Given the description of an element on the screen output the (x, y) to click on. 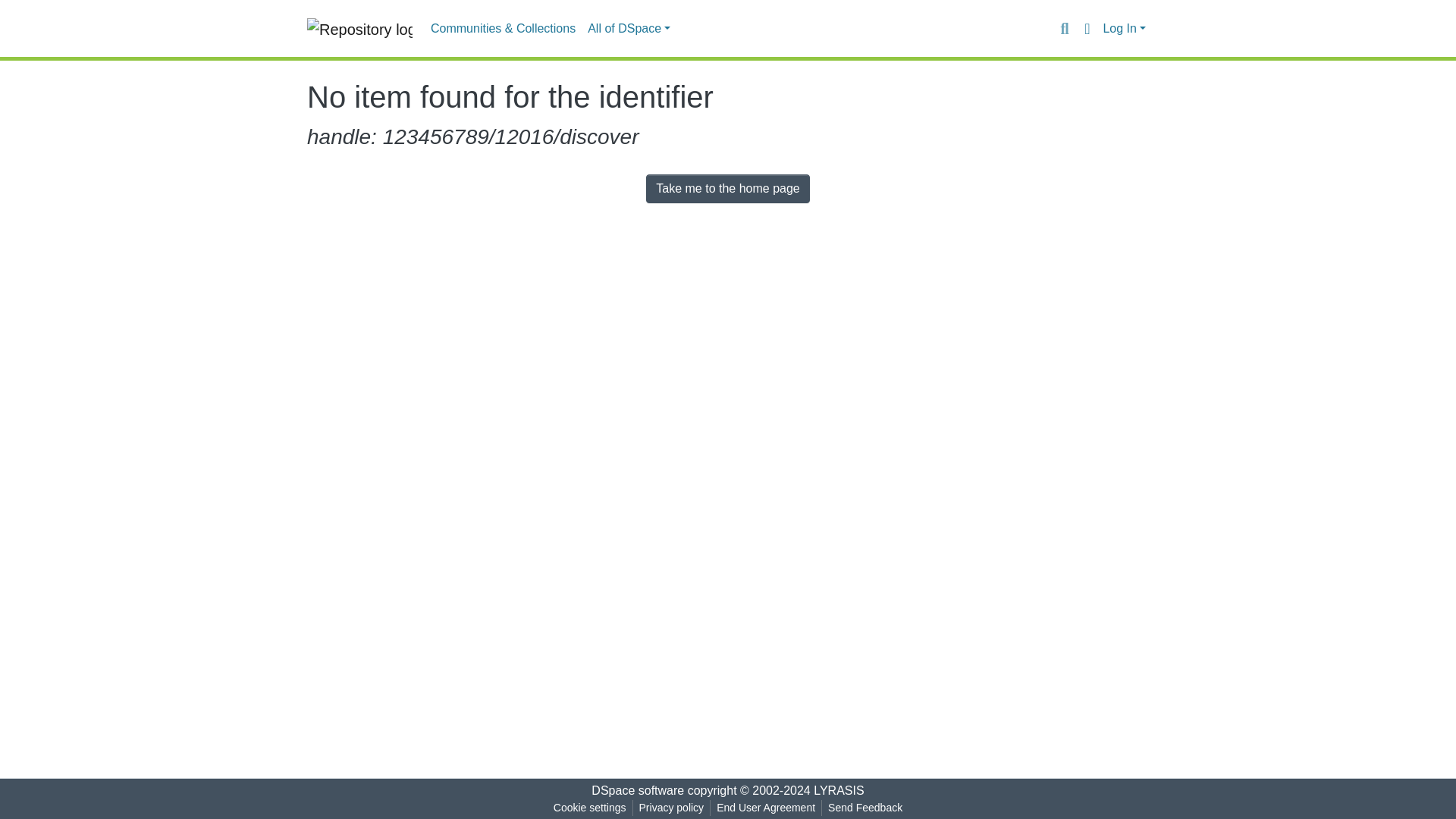
Language switch (1086, 28)
Privacy policy (671, 807)
Cookie settings (589, 807)
Log In (1123, 28)
Take me to the home page (727, 188)
Send Feedback (865, 807)
DSpace software (637, 789)
All of DSpace (628, 28)
Search (1064, 28)
LYRASIS (838, 789)
